Given the description of an element on the screen output the (x, y) to click on. 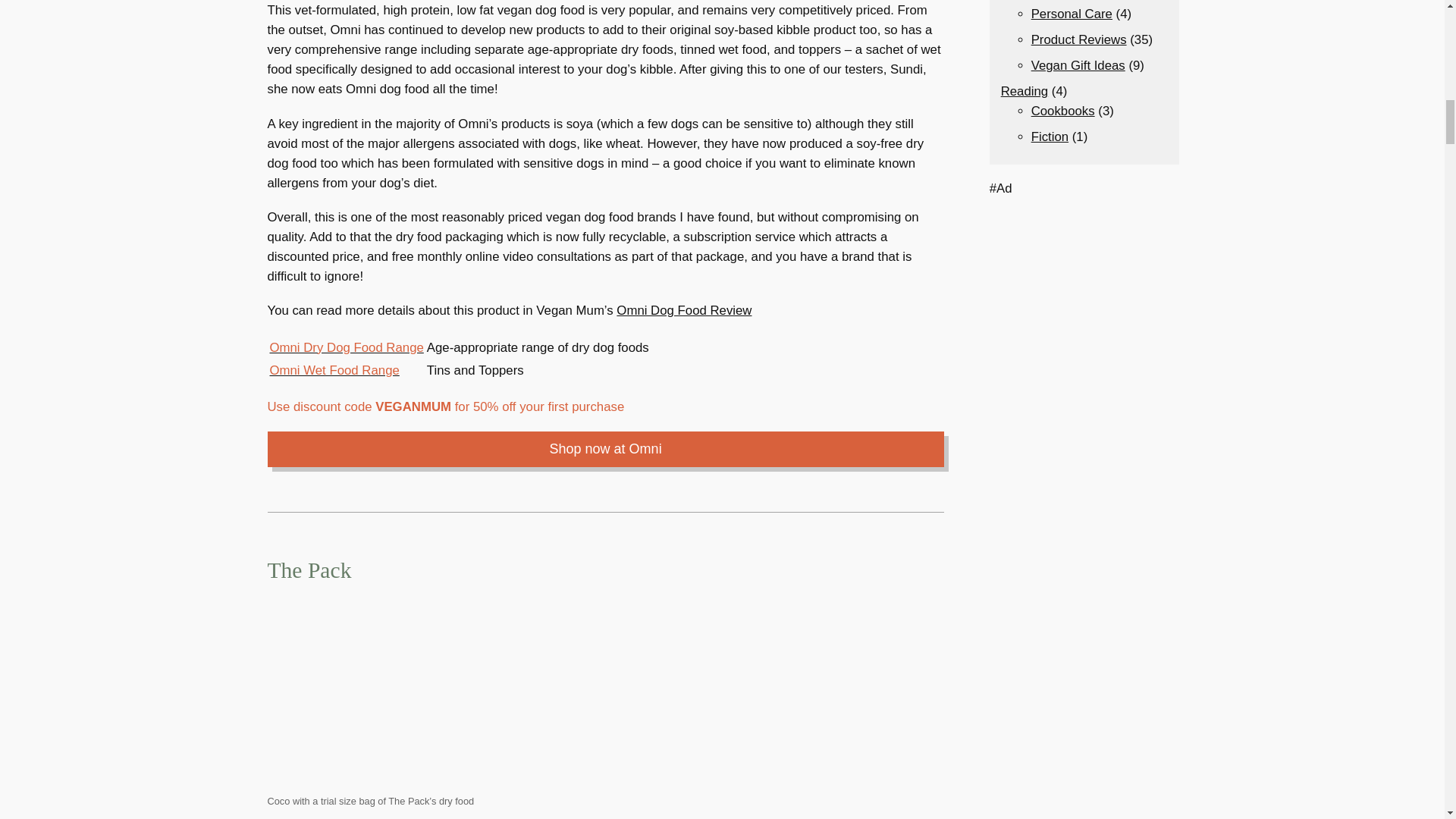
Omni Dry Dog Food Range (346, 347)
Omni Dog Food Review (683, 310)
Omni Wet Food Range (333, 370)
Shop now at Omni (604, 448)
